Given the description of an element on the screen output the (x, y) to click on. 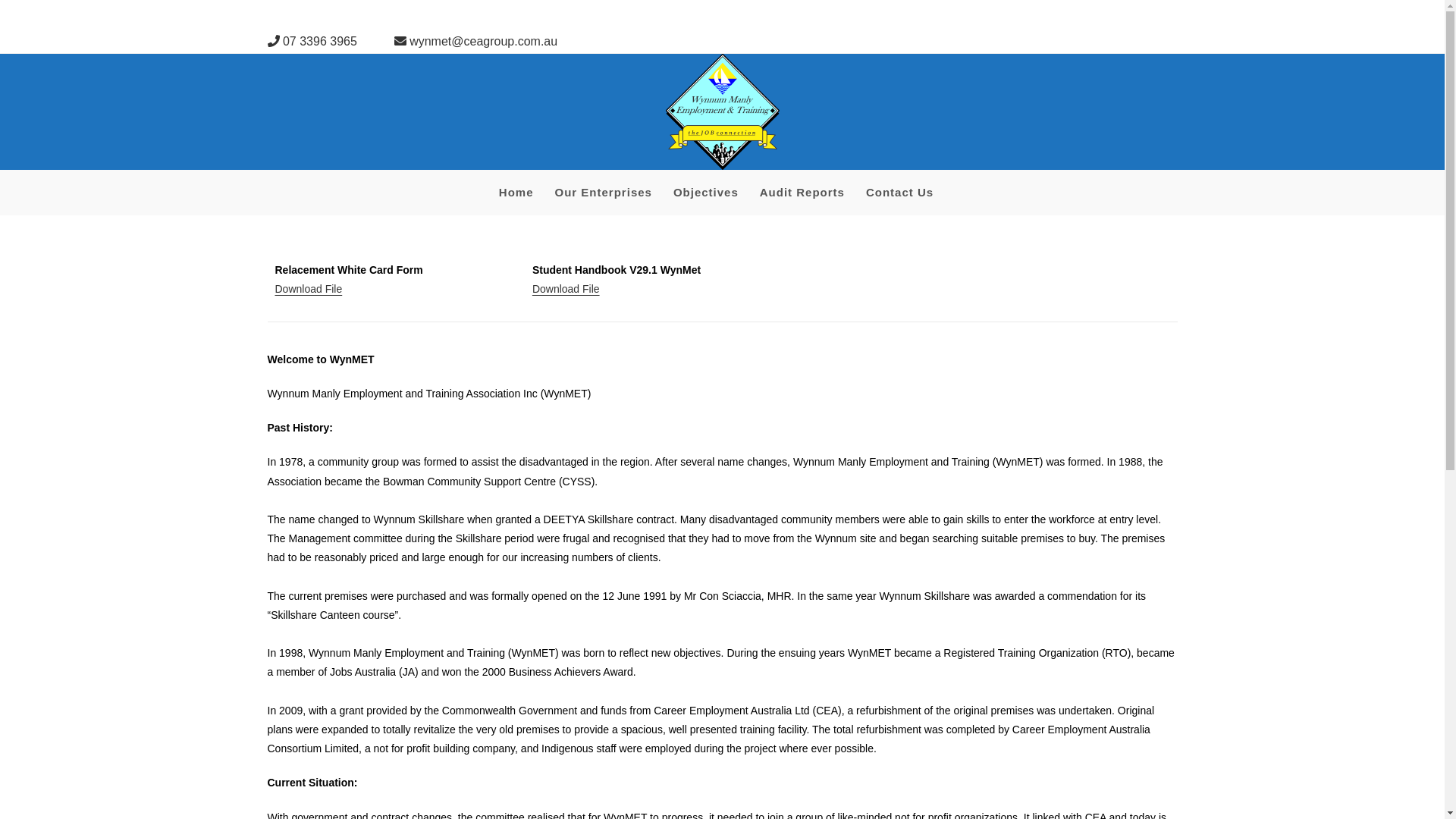
Download File Element type: text (308, 288)
Download File Element type: text (565, 288)
Home Element type: text (522, 192)
Objectives Element type: text (711, 192)
07 3396 3965 Element type: text (313, 40)
Our Enterprises Element type: text (609, 192)
Audit Reports Element type: text (808, 192)
wynmet@ceagroup.com.au Element type: text (475, 40)
Contact Us Element type: text (905, 192)
